Given the description of an element on the screen output the (x, y) to click on. 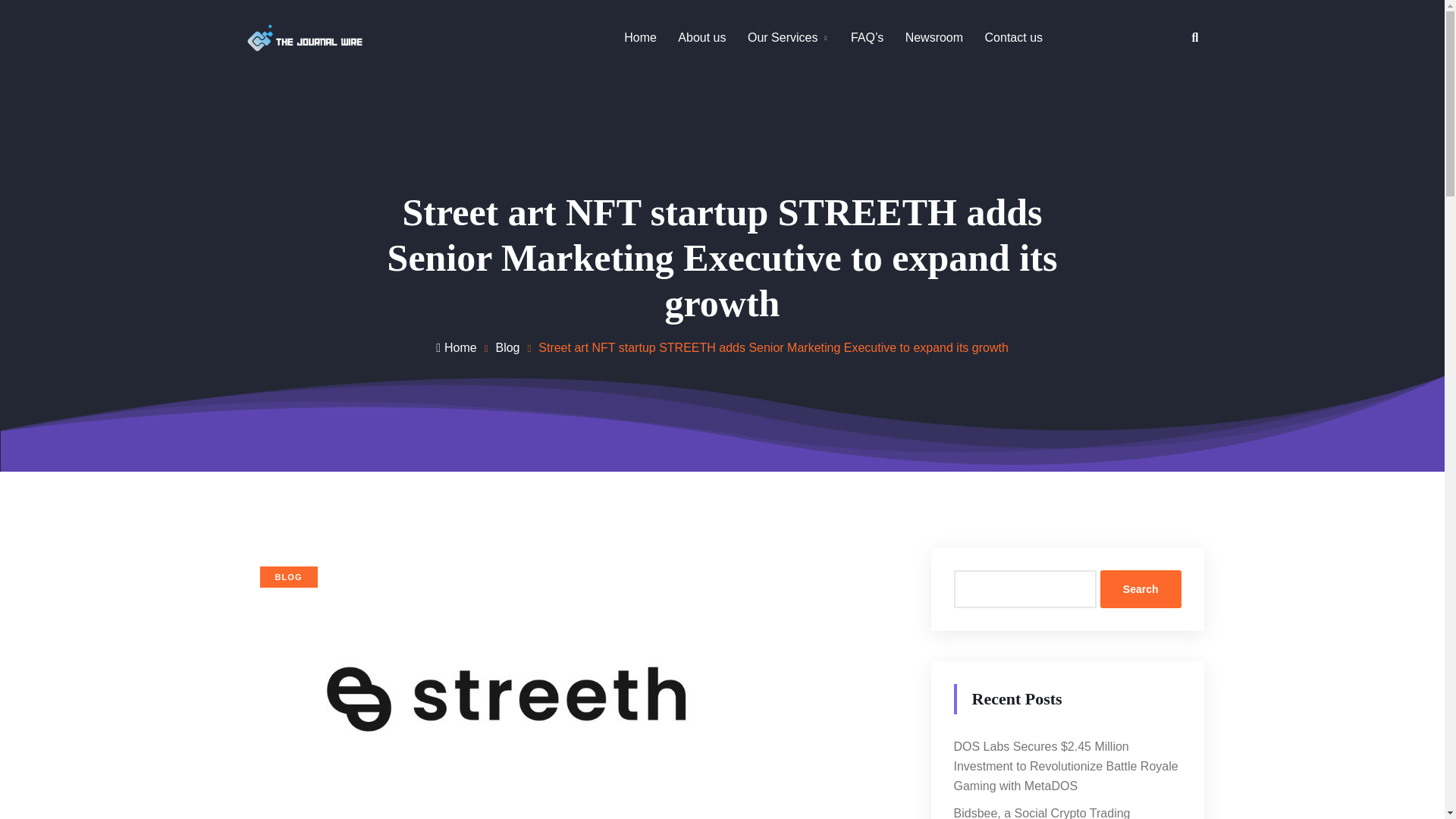
Home (640, 37)
Contact us (1013, 37)
Home (456, 347)
Blog (507, 347)
About us (701, 37)
BLOG (288, 577)
Our Services (782, 37)
Newsroom (933, 37)
